Given the description of an element on the screen output the (x, y) to click on. 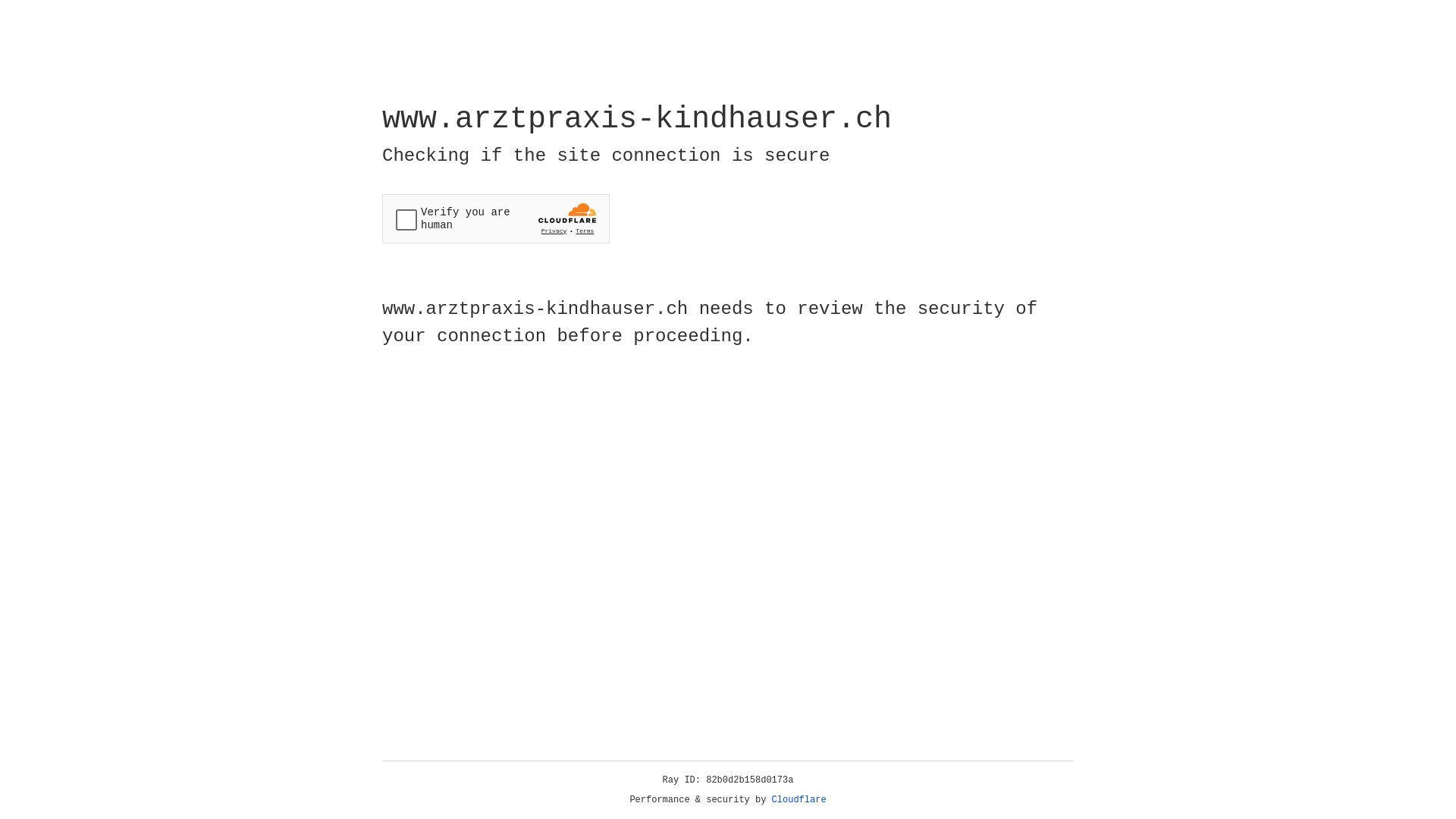
Widget containing a Cloudflare security challenge Element type: hover (495, 218)
Cloudflare Element type: text (798, 799)
